Given the description of an element on the screen output the (x, y) to click on. 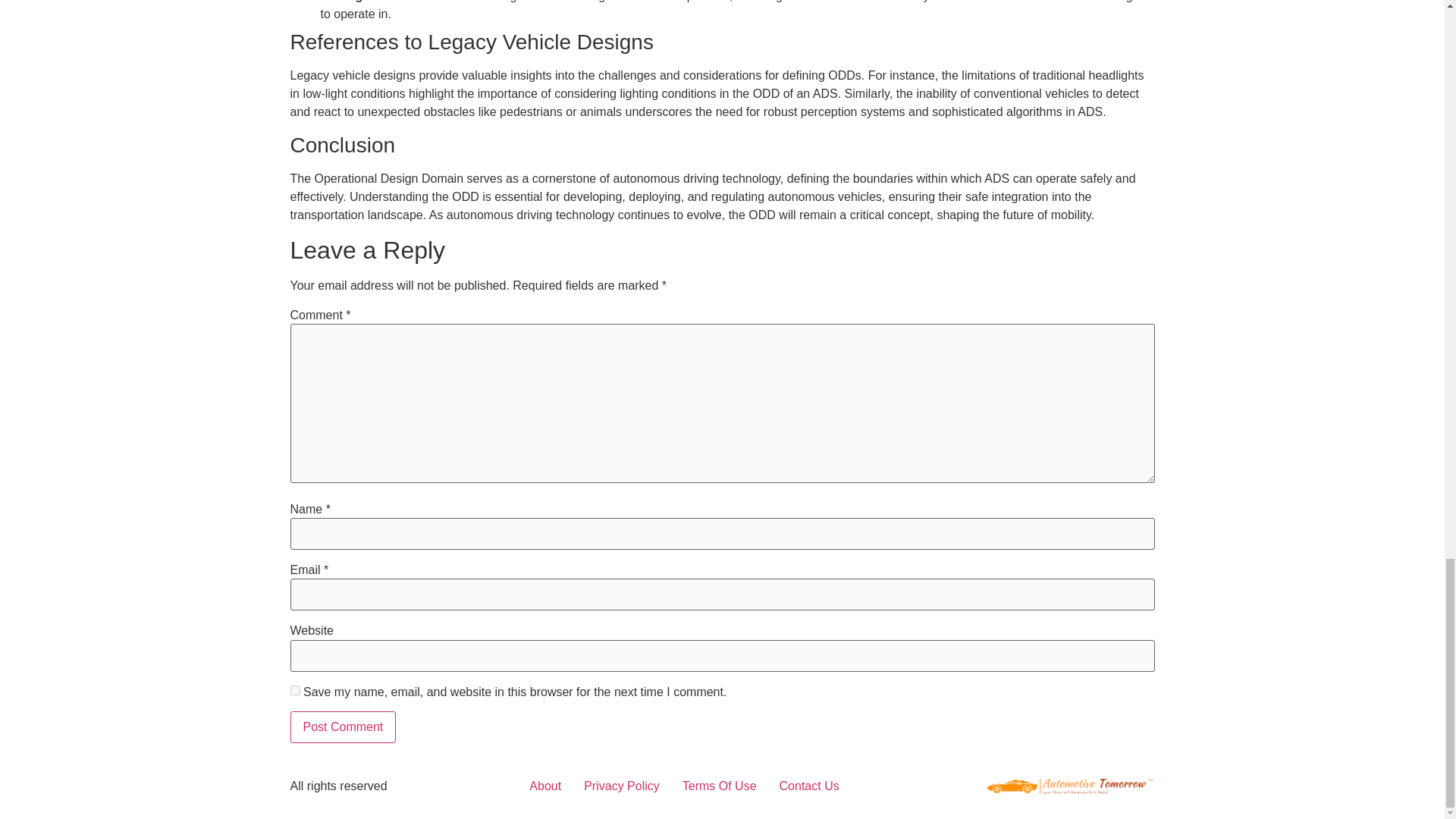
Terms Of Use (719, 786)
Contact Us (809, 786)
Post Comment (342, 726)
Privacy Policy (621, 786)
Post Comment (342, 726)
yes (294, 690)
About (545, 786)
